Given the description of an element on the screen output the (x, y) to click on. 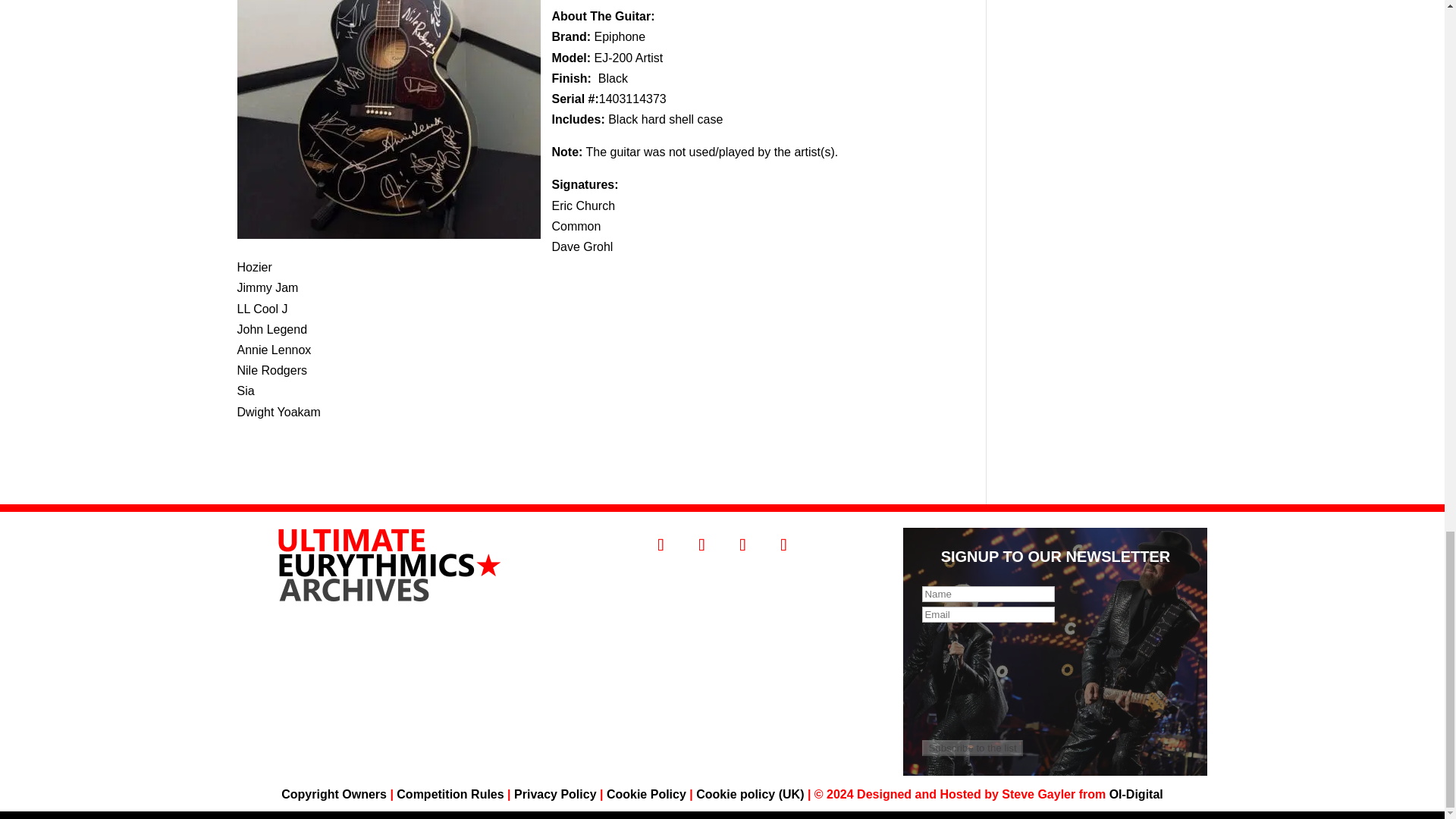
Follow on Facebook (660, 544)
The-Ultimate-Eurythmics-Archives-Logo (388, 564)
Follow on X (742, 544)
Follow on Instagram (701, 544)
Follow on Youtube (782, 544)
Subscribe to the list (971, 747)
